Given the description of an element on the screen output the (x, y) to click on. 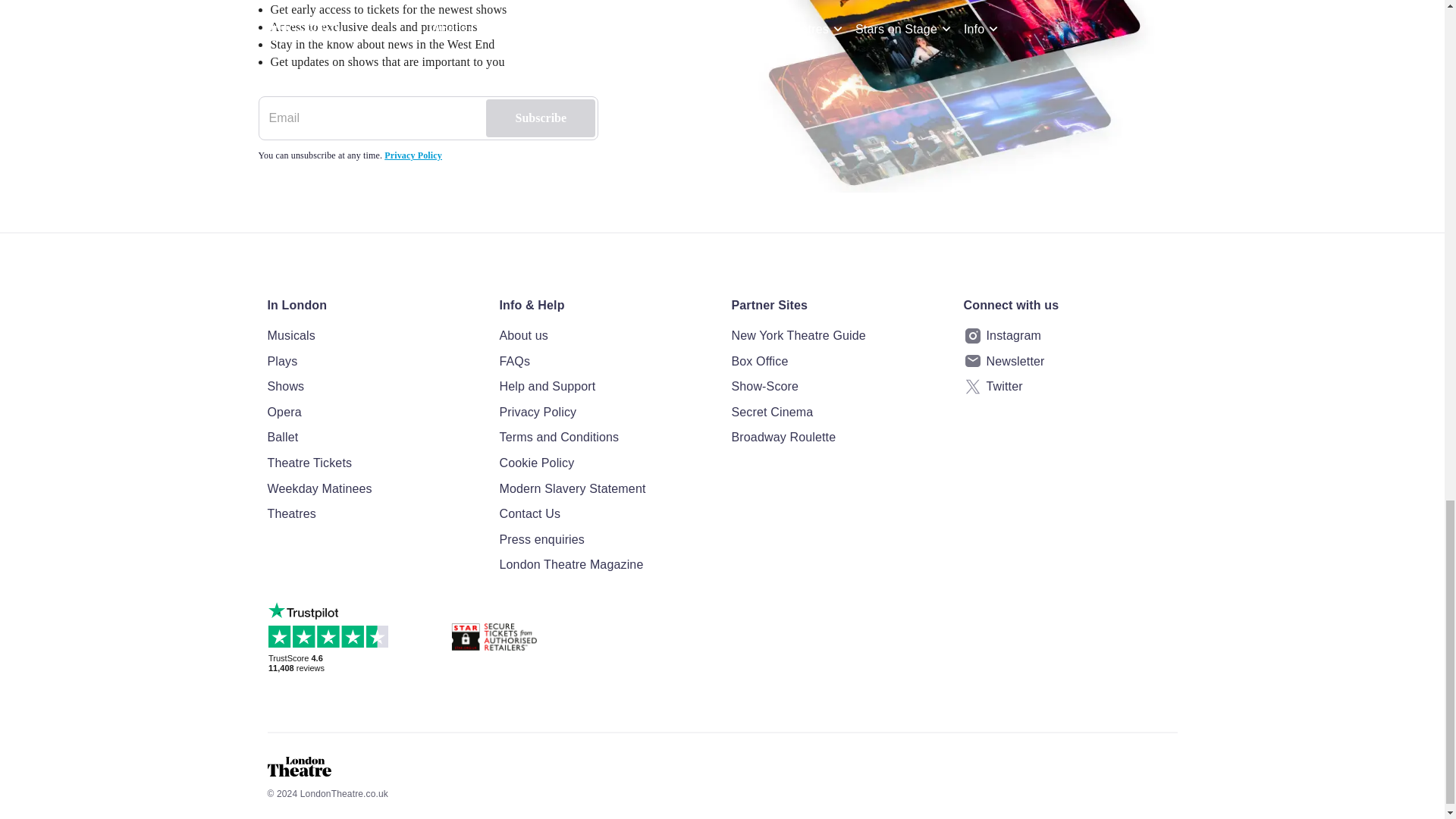
Terms and Conditions (606, 437)
Theatre Tickets (373, 463)
Privacy Policy (606, 412)
Help and Support (606, 386)
New York Theatre Guide (837, 335)
London Theatre Magazine (606, 564)
Cookie Policy (606, 463)
Weekday Matinees (373, 488)
Shows (373, 386)
Plays (373, 361)
Theatres (373, 514)
About us (606, 335)
Opera (373, 412)
FAQs (606, 361)
Contact Us (606, 514)
